Given the description of an element on the screen output the (x, y) to click on. 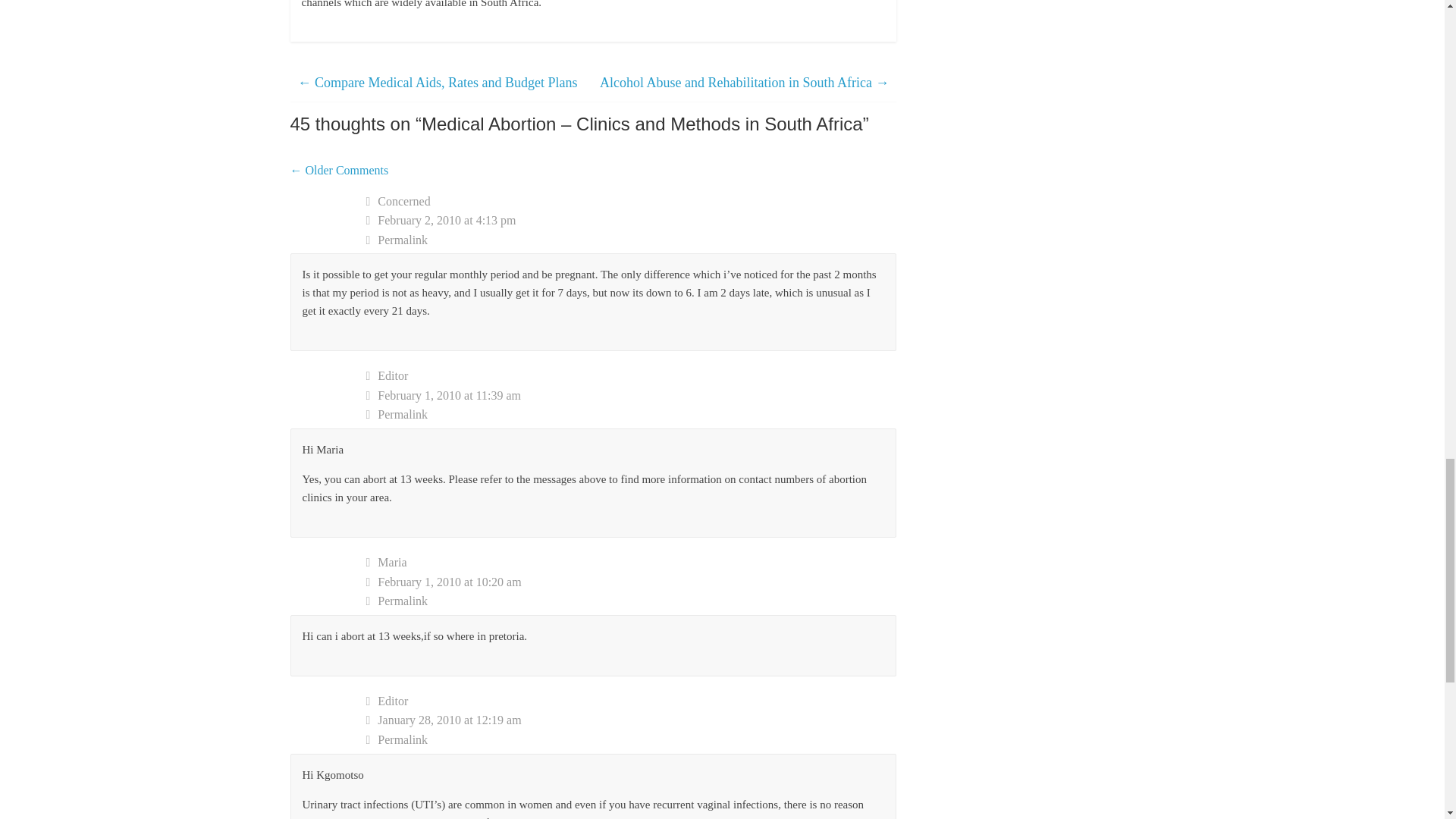
Permalink (630, 600)
Permalink (630, 740)
Permalink (630, 240)
Permalink (630, 414)
